Given the description of an element on the screen output the (x, y) to click on. 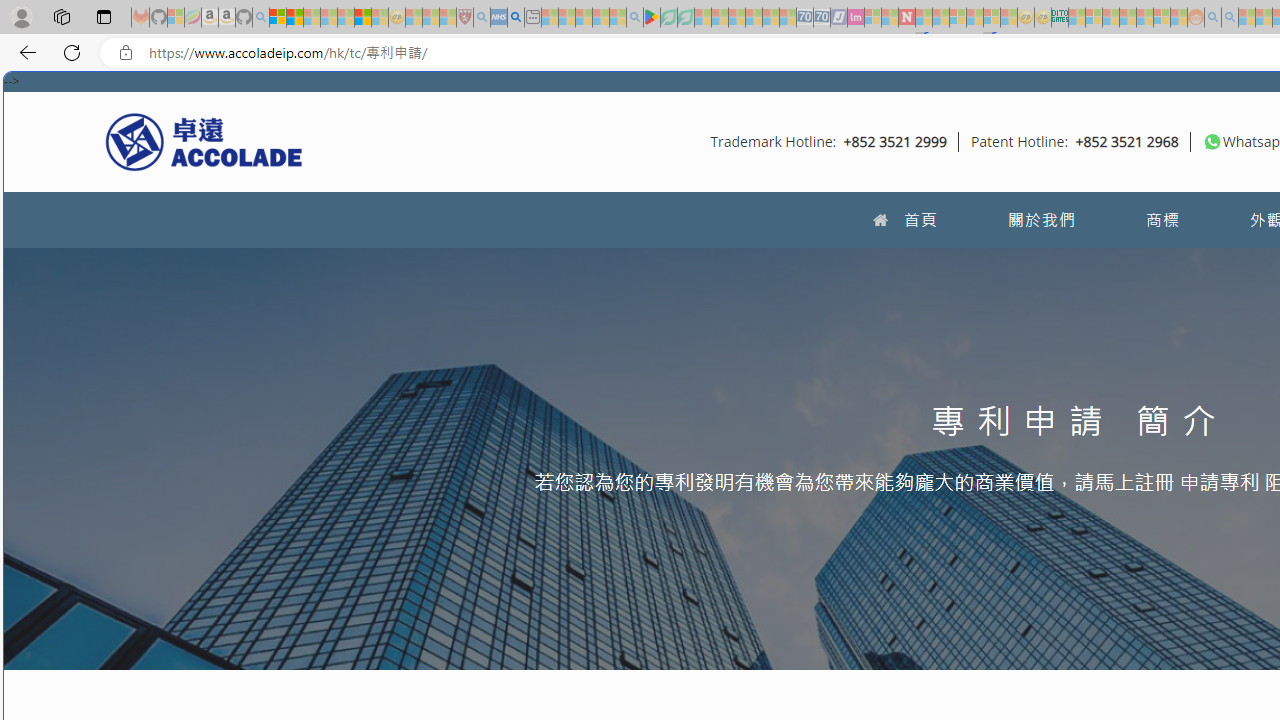
Kinda Frugal - MSN - Sleeping (1144, 17)
Accolade IP HK Logo (203, 141)
